Given the description of an element on the screen output the (x, y) to click on. 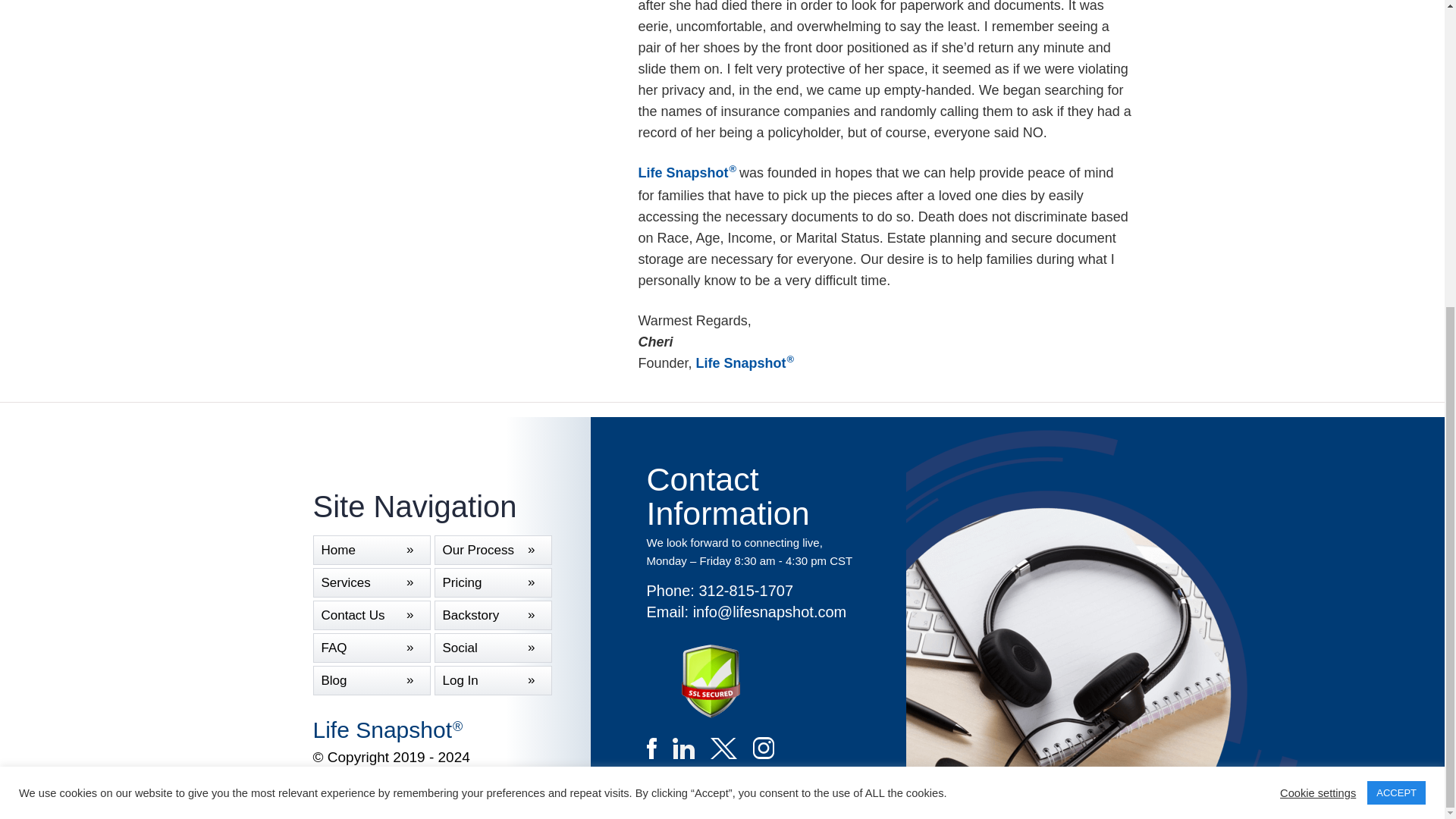
Services (371, 582)
FAQ (371, 647)
Our Process (492, 550)
Contact Us (371, 614)
Home (371, 550)
Pricing (492, 582)
Backstory (492, 614)
Privacy Policy (469, 792)
Cookie settings (1317, 308)
Social (492, 647)
Log In (492, 680)
ACCEPT (1396, 309)
Blog (371, 680)
